Given the description of an element on the screen output the (x, y) to click on. 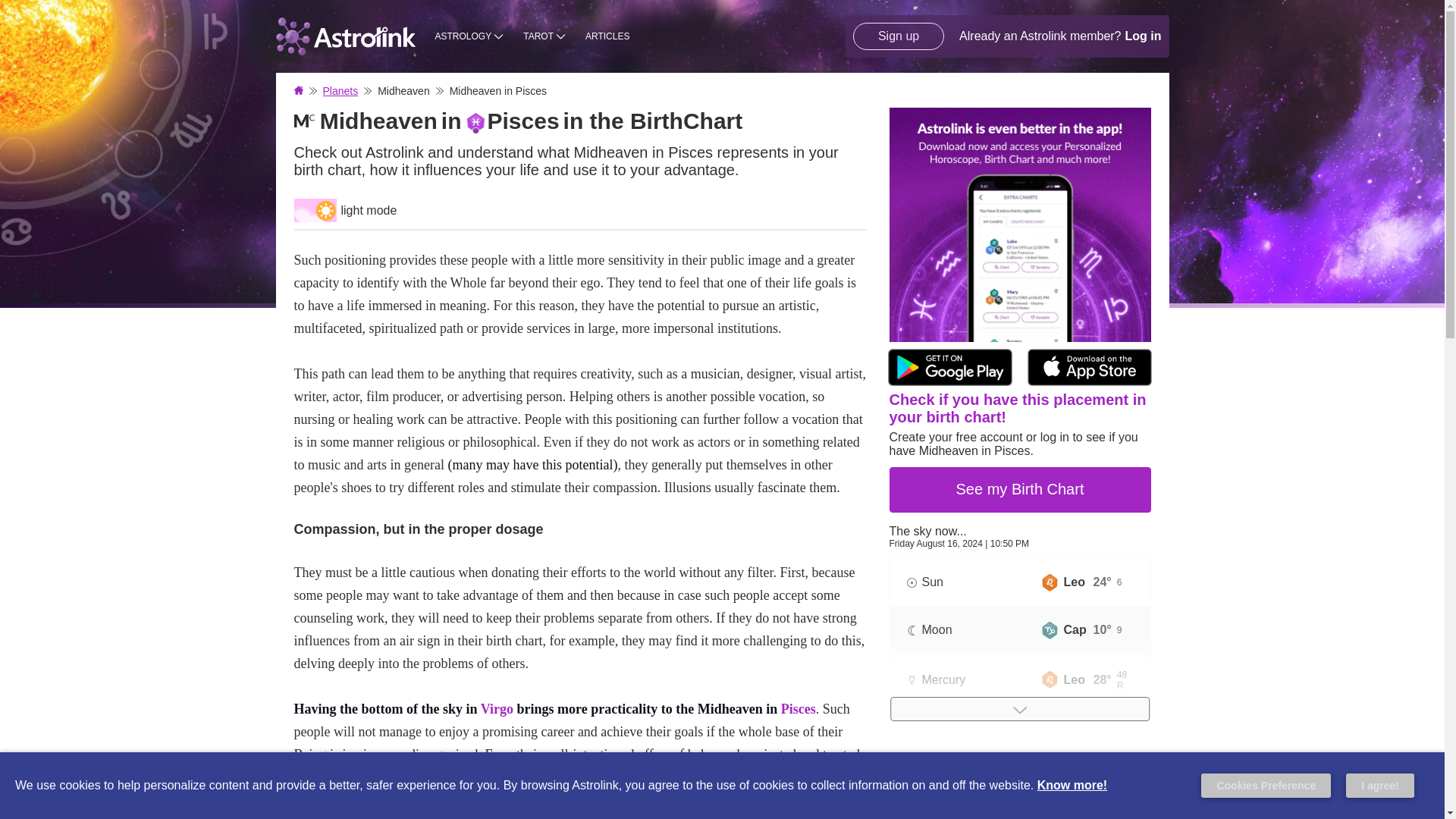
TAROT (544, 35)
Articles (606, 36)
I agree! (1379, 785)
See my Birth Chart (1019, 489)
1 (315, 210)
Log in (1143, 36)
Pisces (797, 708)
Know more! (1071, 784)
Virgo (496, 708)
ASTROLOGY (470, 35)
